Given the description of an element on the screen output the (x, y) to click on. 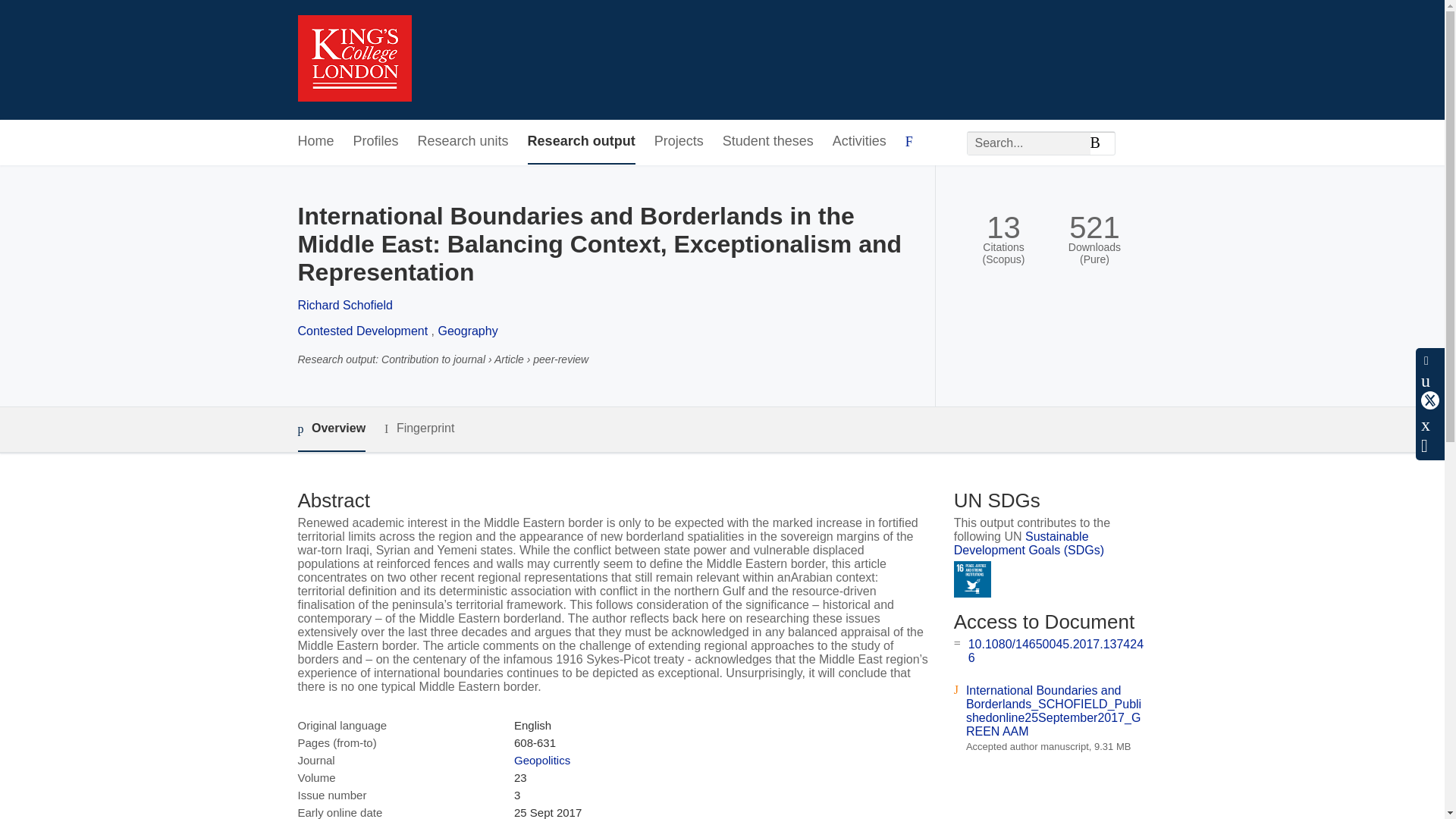
Geopolitics (541, 759)
Research units (462, 141)
Geography (467, 330)
Research output (580, 141)
Richard Schofield (344, 305)
SDG 16 - Peace, Justice and Strong Institutions (972, 579)
Contested Development (363, 330)
Profiles (375, 141)
Student theses (767, 141)
Projects (678, 141)
